Given the description of an element on the screen output the (x, y) to click on. 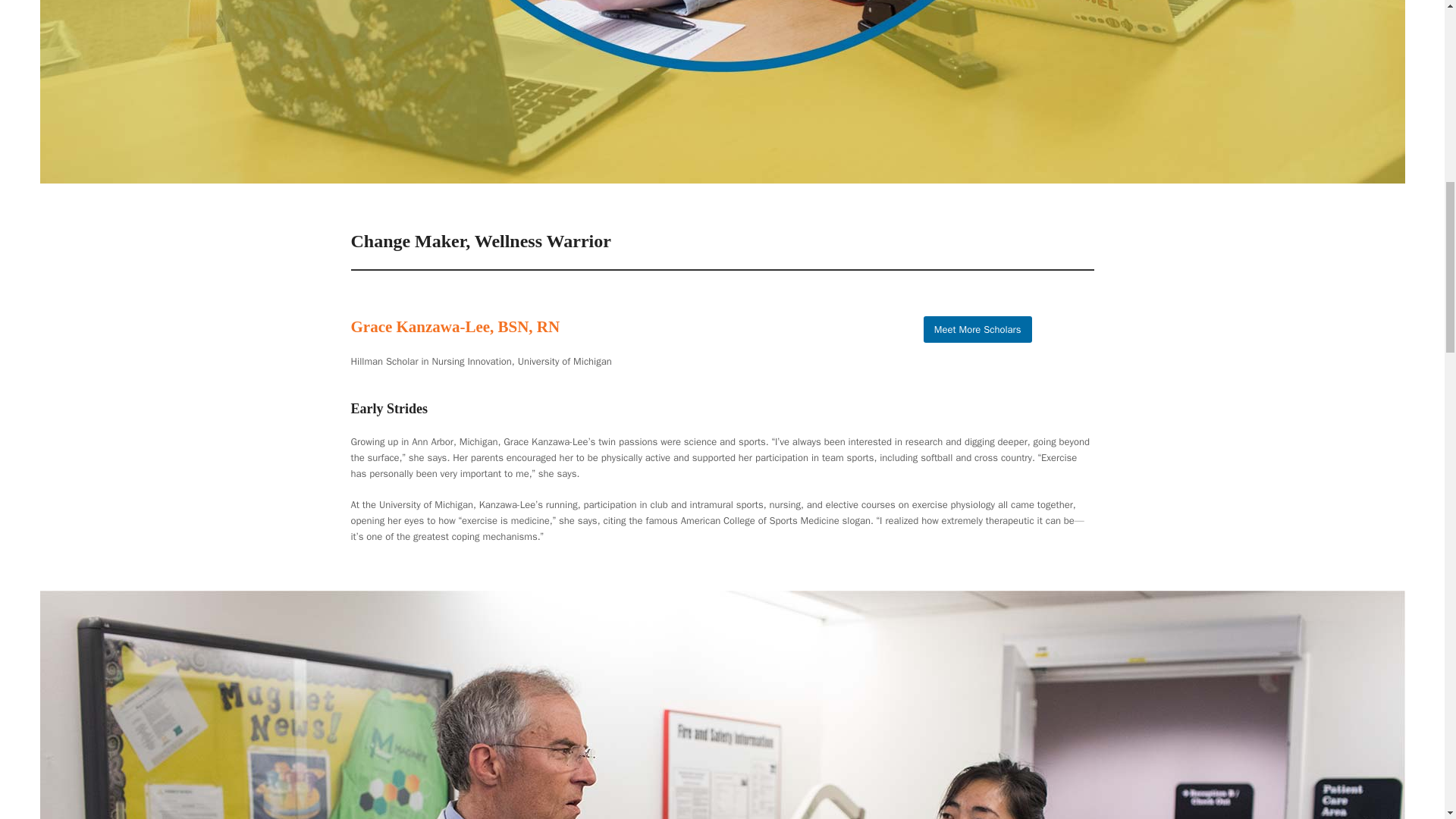
Meet More Scholars (977, 329)
